Given the description of an element on the screen output the (x, y) to click on. 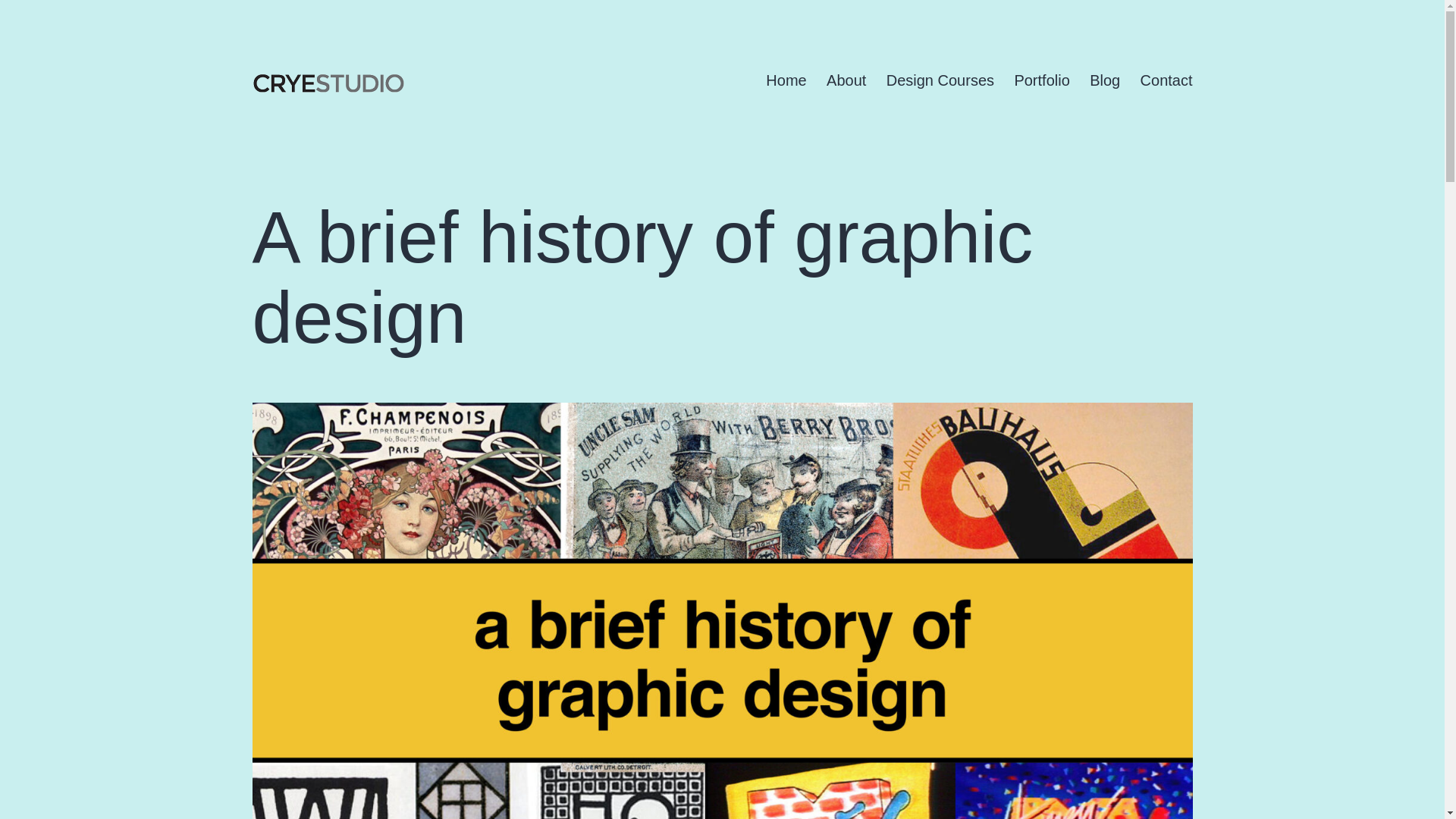
Blog (1104, 79)
Design Courses (940, 79)
About (846, 79)
Home (785, 79)
Contact (1165, 79)
Portfolio (1042, 79)
